Given the description of an element on the screen output the (x, y) to click on. 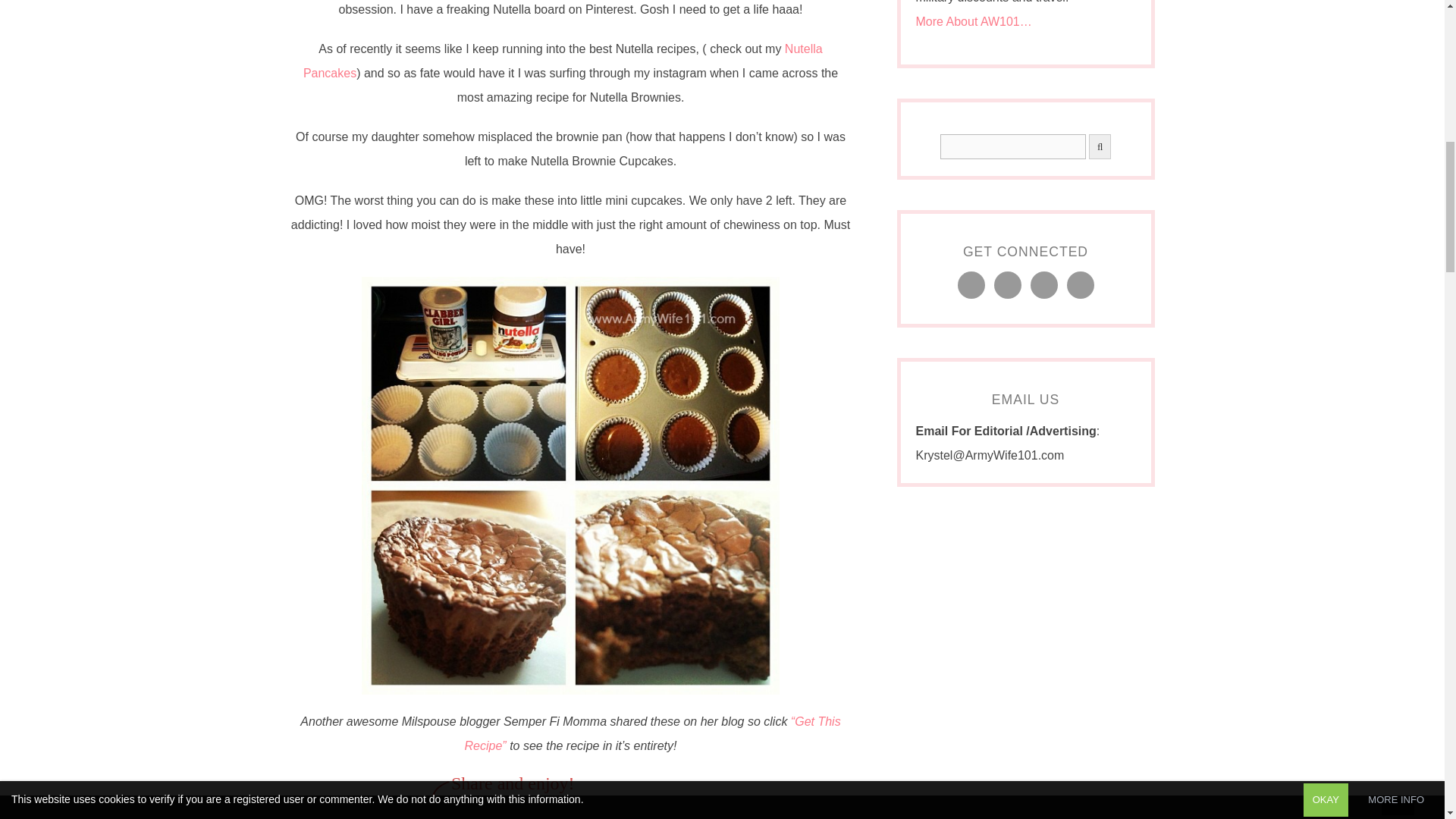
Pinterest (651, 806)
Digg (469, 806)
Facebook (515, 806)
LinkedIn (560, 806)
Search (1013, 146)
More Options (697, 806)
